Given the description of an element on the screen output the (x, y) to click on. 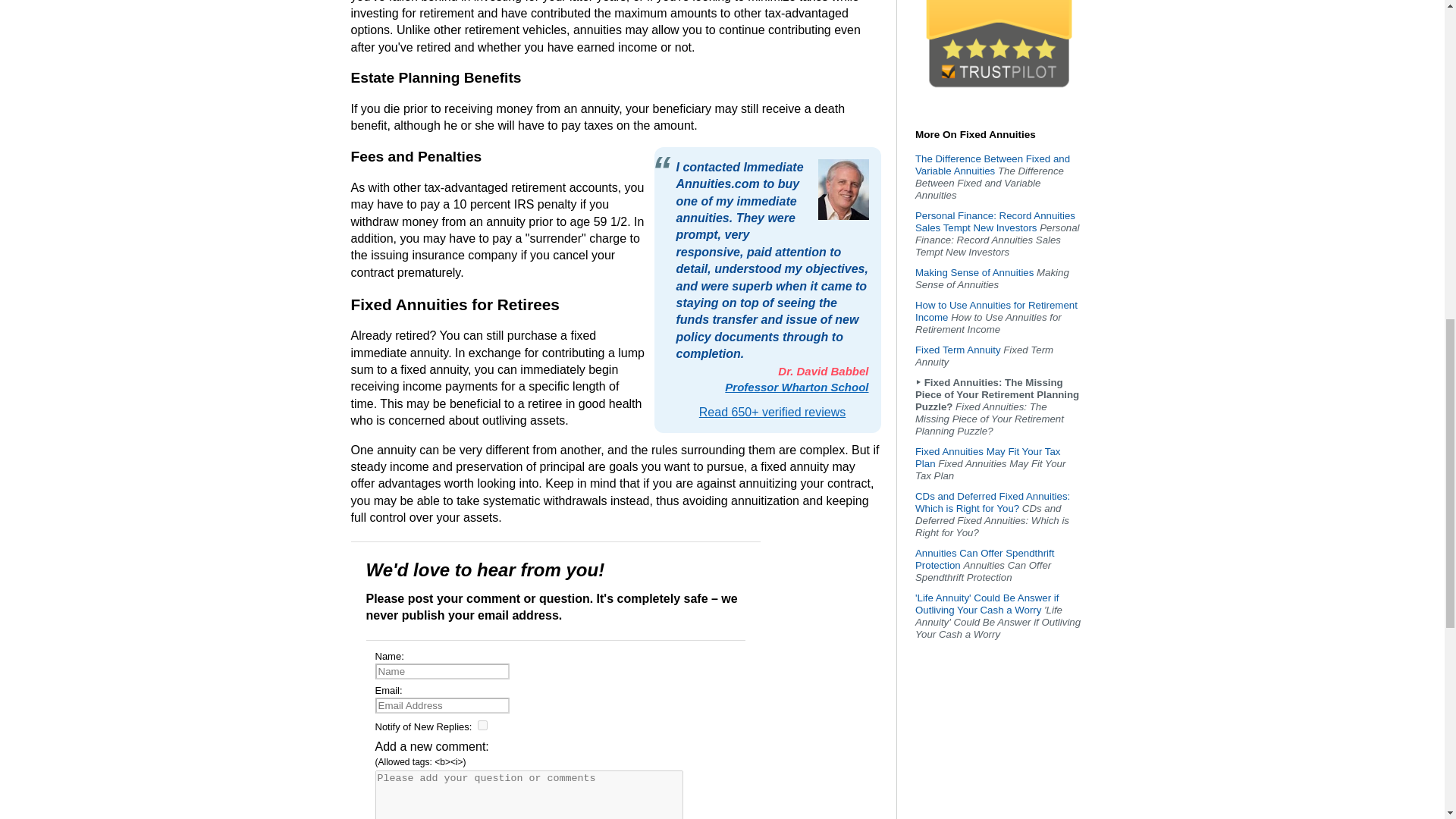
1 (482, 725)
